Given the description of an element on the screen output the (x, y) to click on. 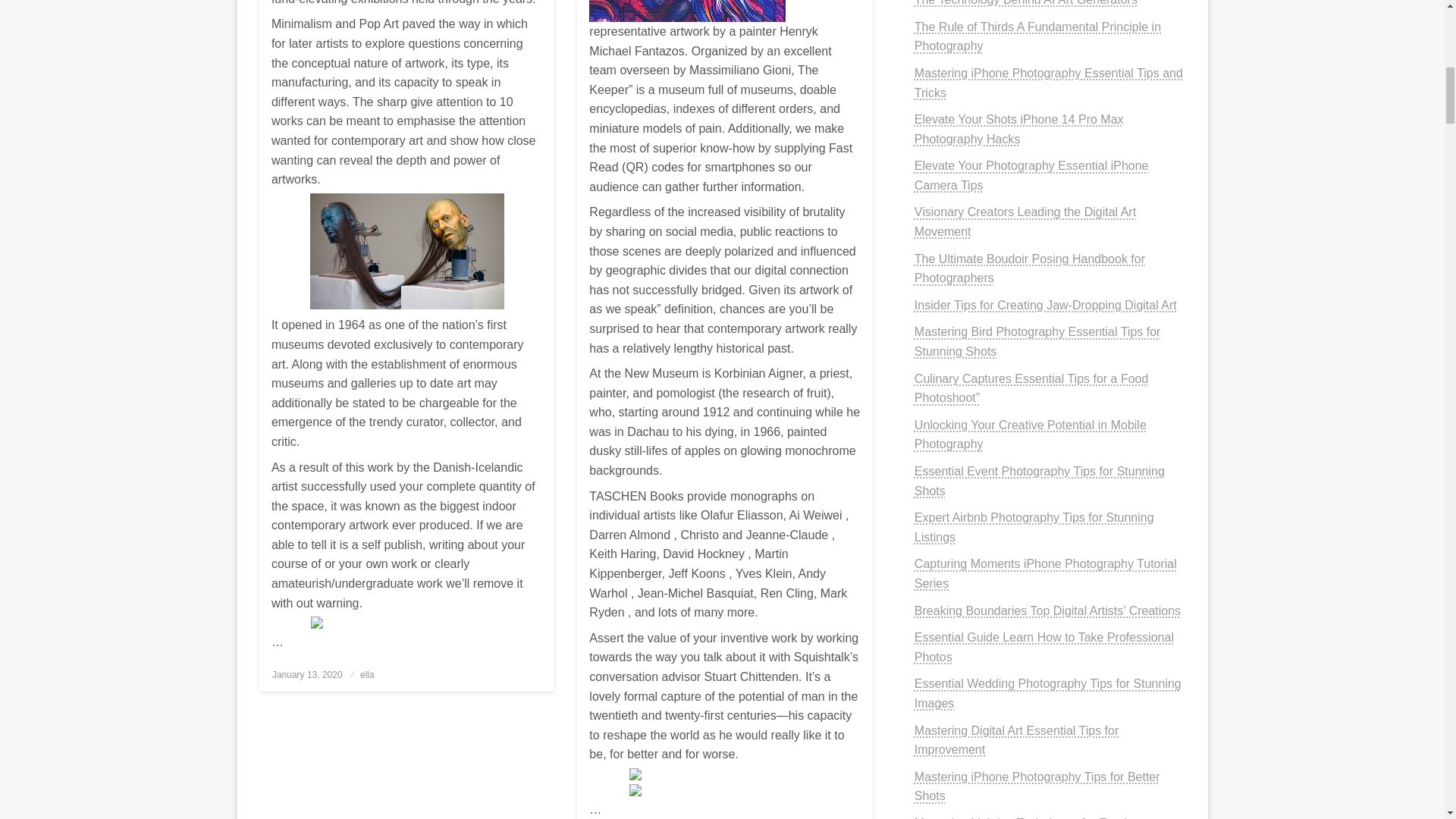
ella (366, 674)
